Given the description of an element on the screen output the (x, y) to click on. 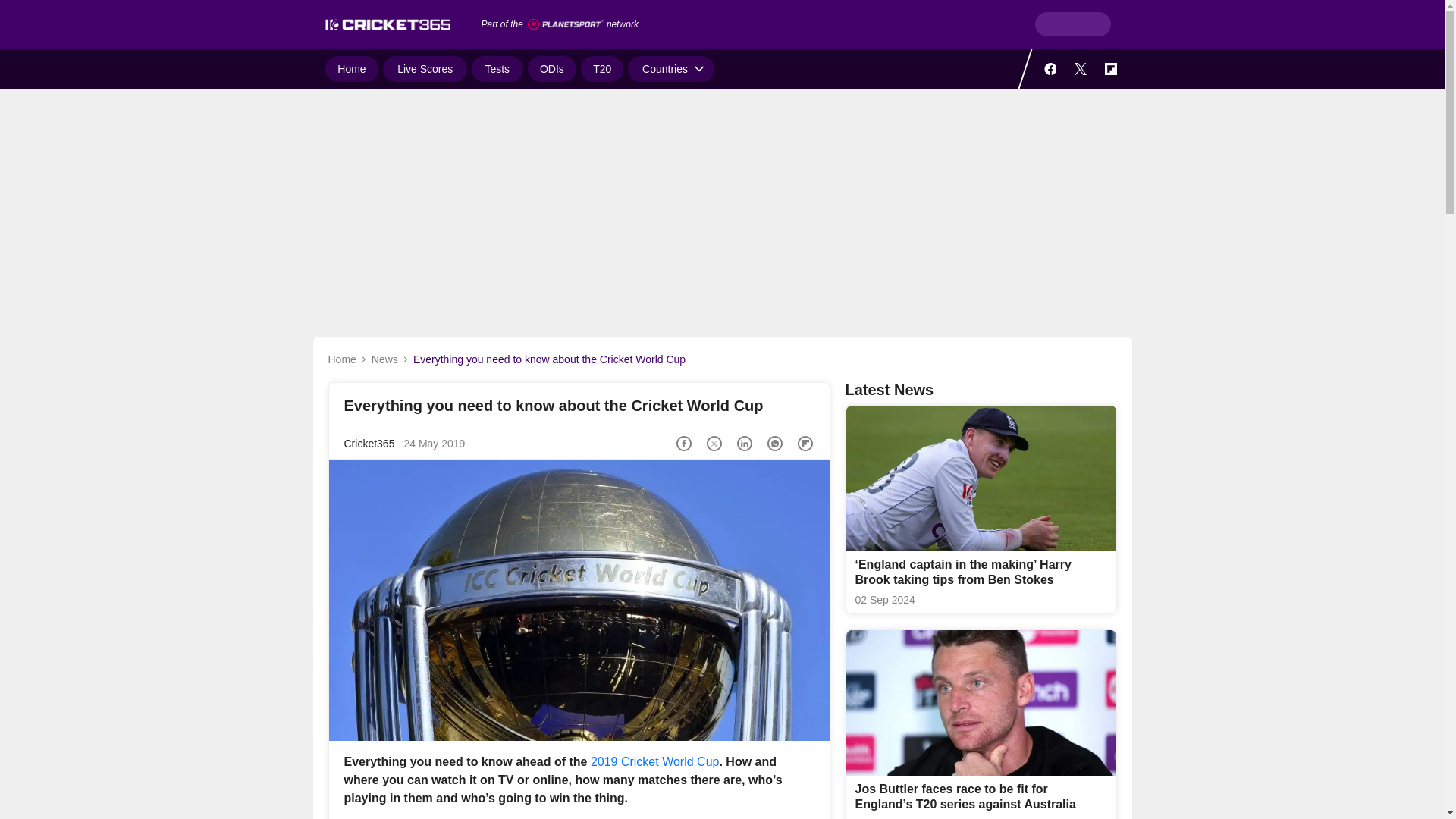
Countries (670, 68)
Live Scores (424, 68)
Home (351, 68)
Home (341, 359)
ODIs (551, 68)
T20 (601, 68)
Tests (496, 68)
News (384, 359)
